Given the description of an element on the screen output the (x, y) to click on. 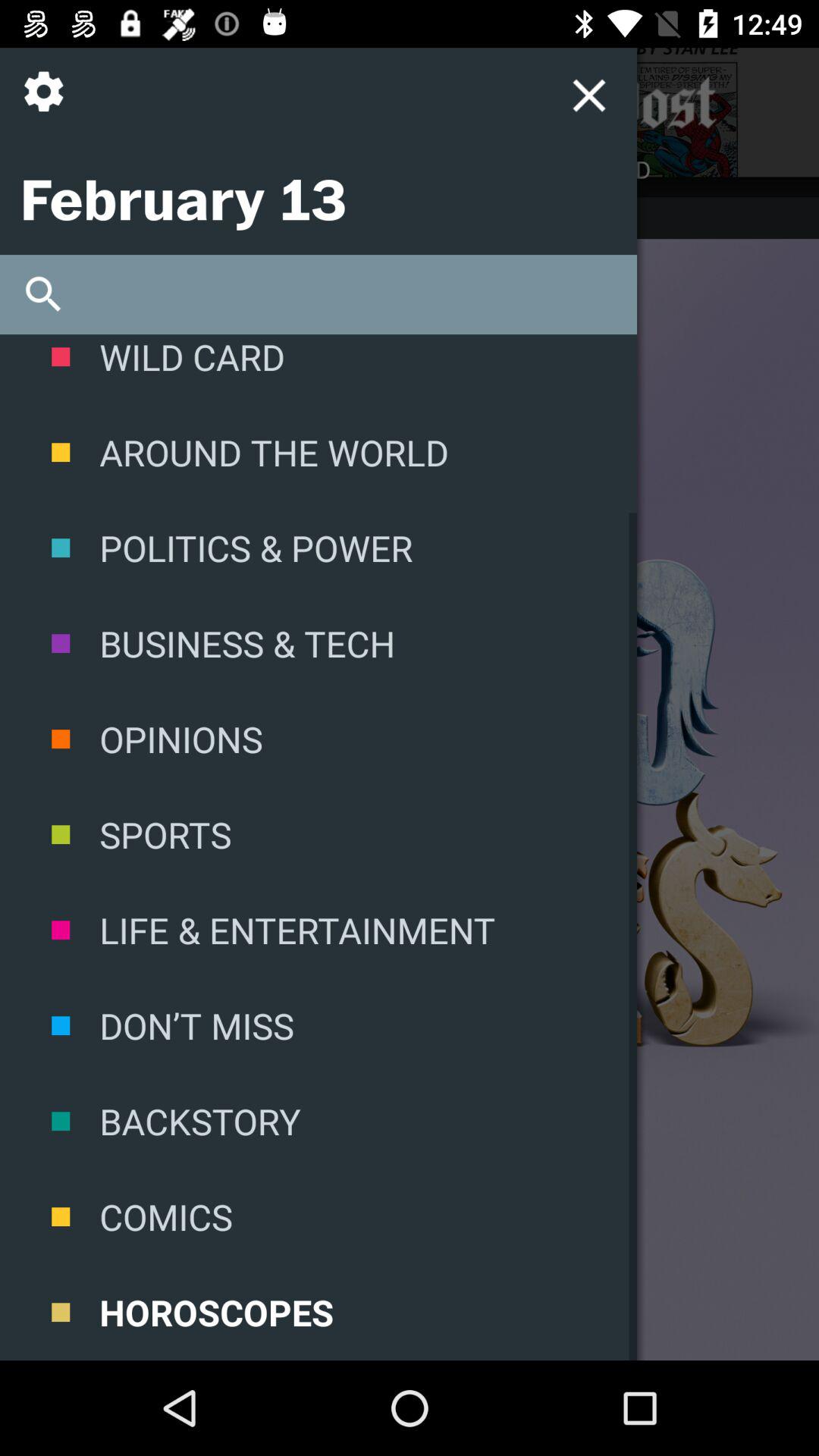
turn on the opinions item (318, 739)
